Given the description of an element on the screen output the (x, y) to click on. 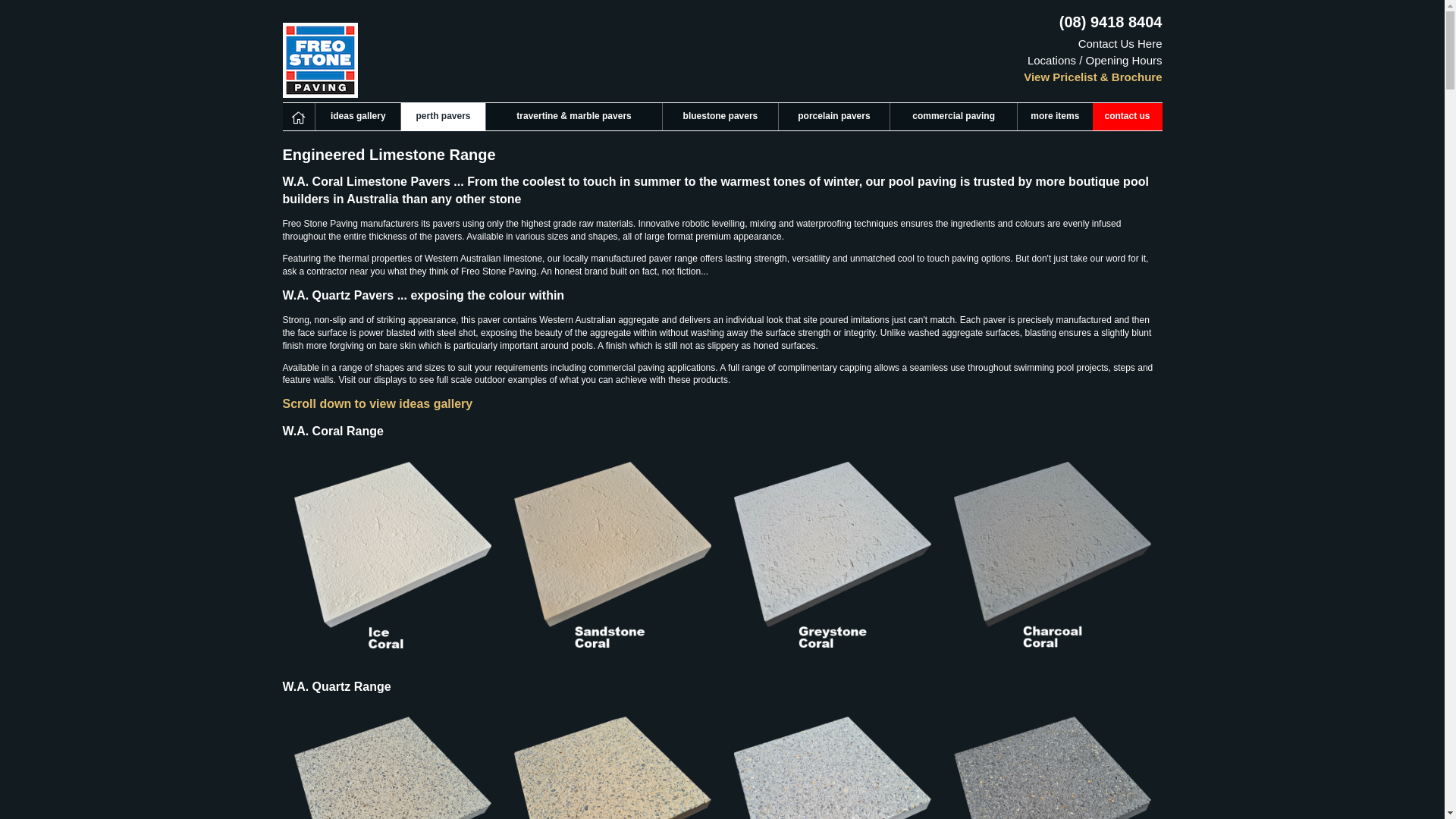
contact us Element type: text (1127, 116)
View Pricelist & Brochure Element type: text (1092, 76)
commercial paving Element type: text (952, 116)
(08) 9418 8404 Element type: text (1110, 21)
home Element type: text (298, 116)
more items Element type: text (1054, 116)
Locations / Opening Hours Element type: text (1094, 59)
travertine & marble pavers Element type: text (573, 116)
porcelain pavers Element type: text (834, 116)
perth pavers Element type: text (442, 116)
bluestone pavers Element type: text (720, 116)
ideas gallery Element type: text (357, 116)
Contact Us Here Element type: text (1120, 43)
